Given the description of an element on the screen output the (x, y) to click on. 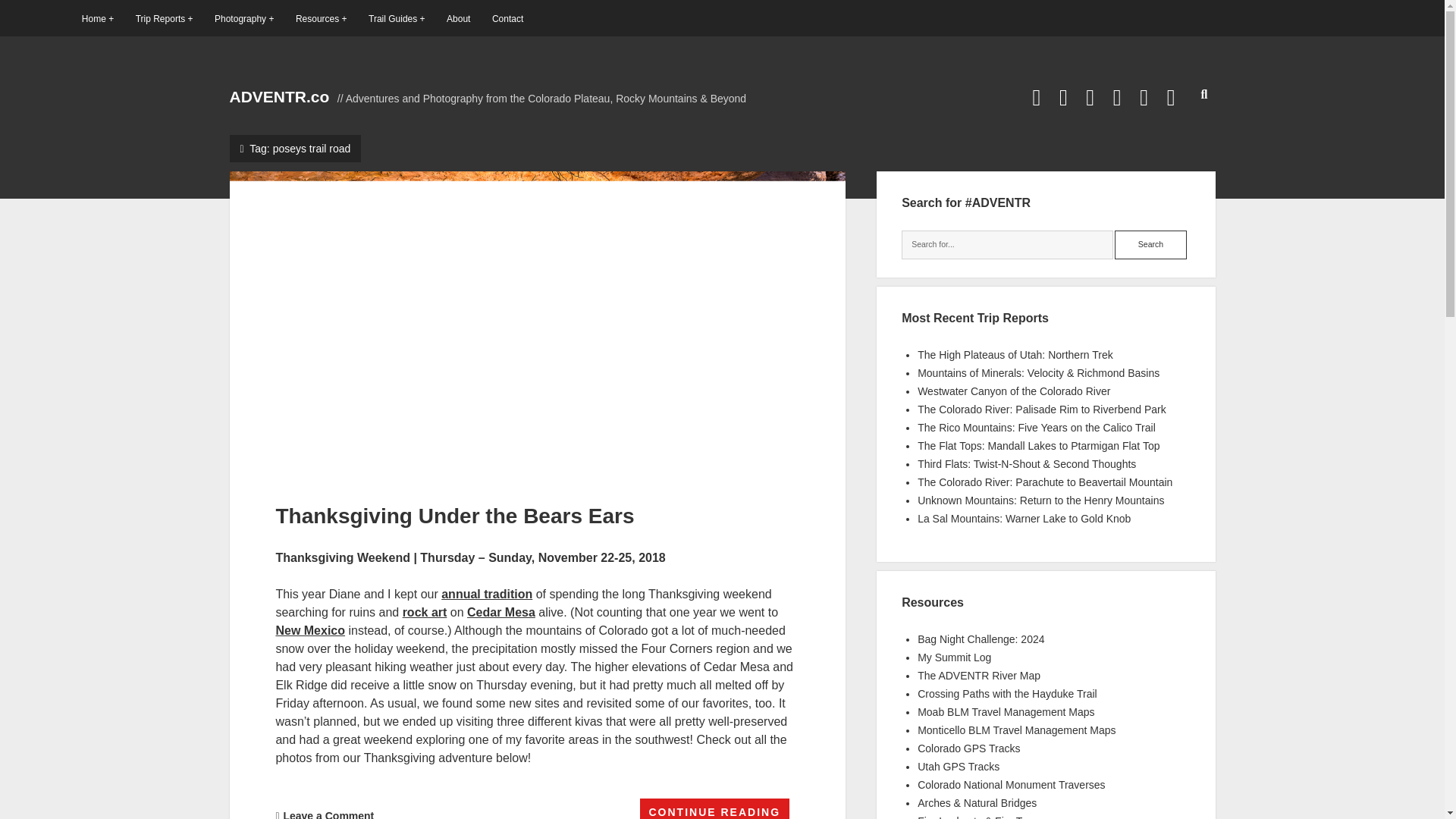
Photography (243, 18)
Trip Reports (164, 18)
About ADVENTR.co (458, 18)
Contact (507, 18)
Home (97, 18)
Search (1150, 244)
Search (1150, 244)
Search for: (1007, 244)
